Given the description of an element on the screen output the (x, y) to click on. 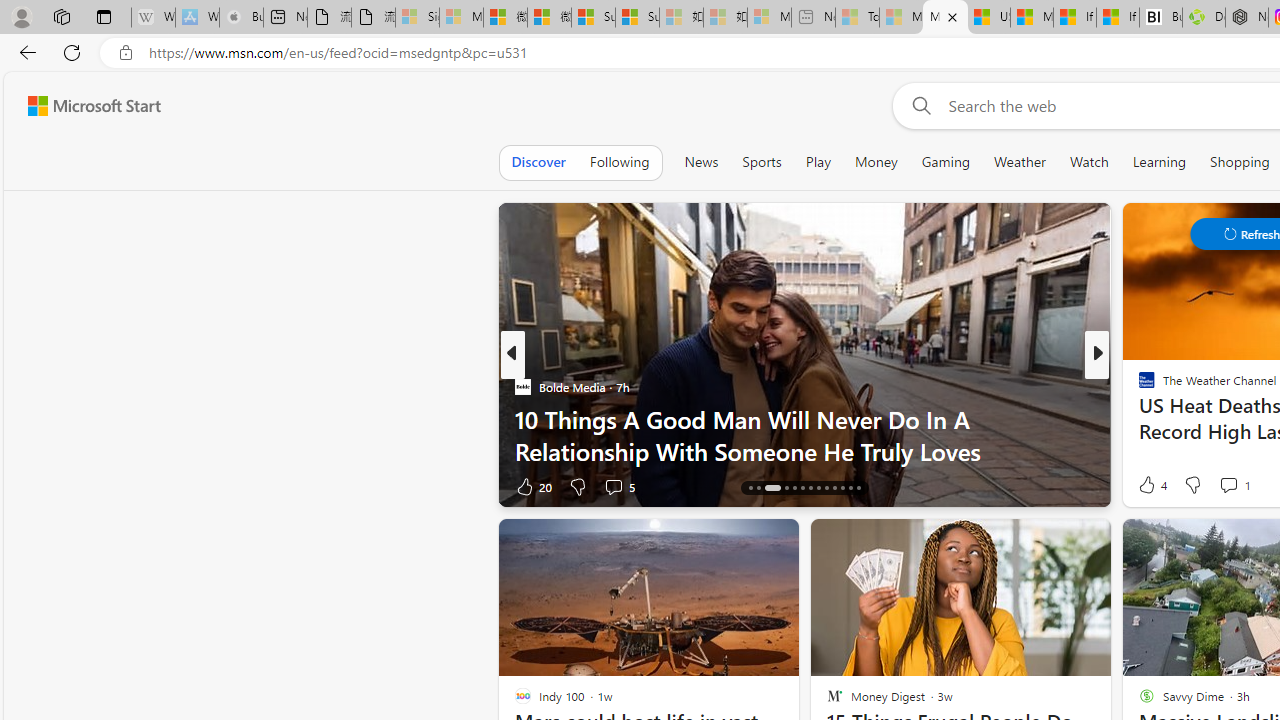
Shopping (1240, 161)
12 Like (1149, 486)
AutomationID: tab-14 (750, 487)
The Cool Down (1138, 386)
GOBankingRates (1138, 386)
spot on news (1138, 418)
20 Like (532, 486)
MSNBC (1138, 386)
View comments 1k Comment (1236, 486)
13 Like (1149, 486)
3 Like (1145, 486)
AutomationID: tab-17 (786, 487)
